Given the description of an element on the screen output the (x, y) to click on. 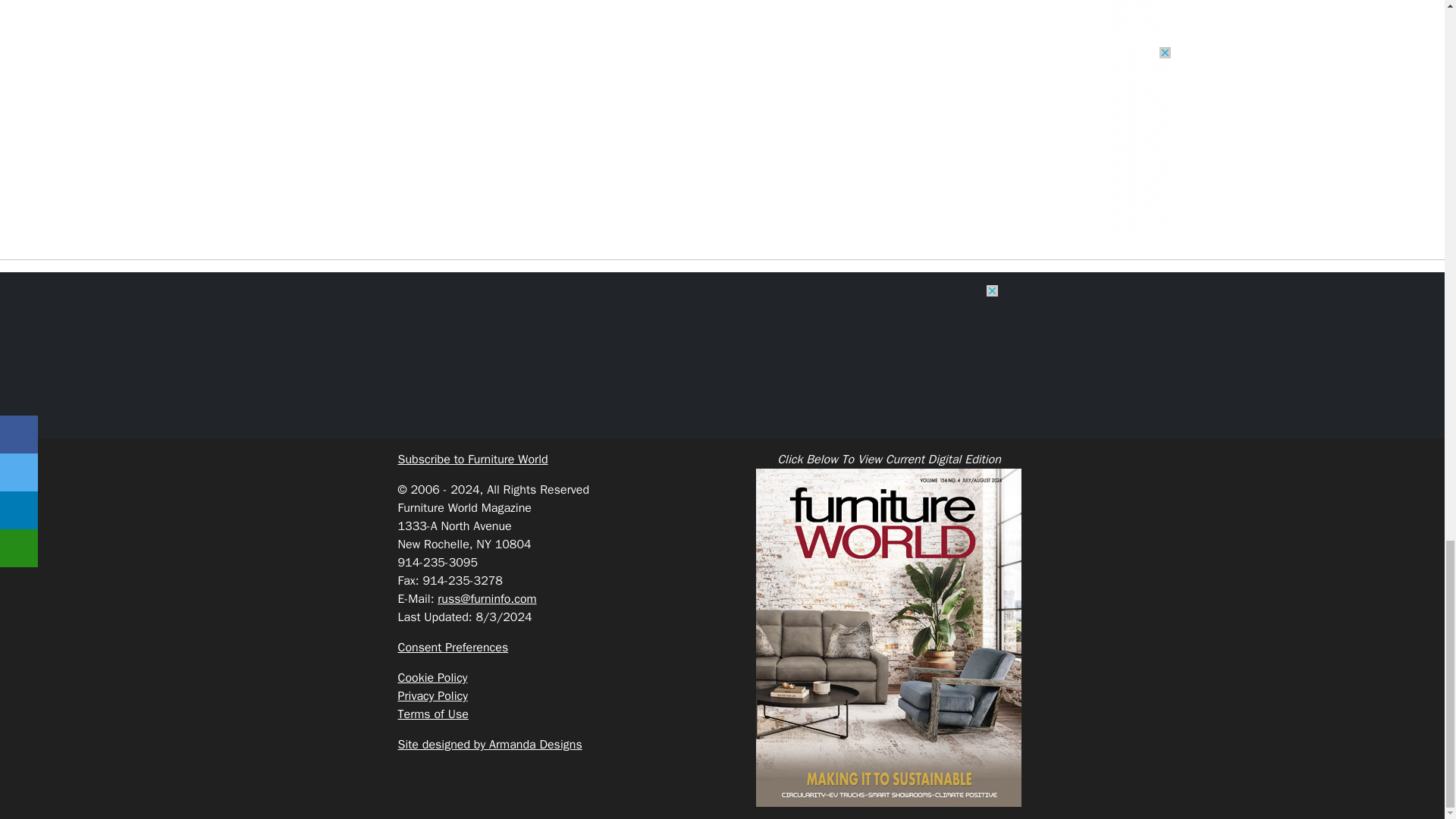
Consent Preferences (452, 647)
Subscribe to Furniture World (472, 459)
Terms of Use (432, 713)
Privacy Policy (432, 695)
Cookie Policy (432, 677)
